Given the description of an element on the screen output the (x, y) to click on. 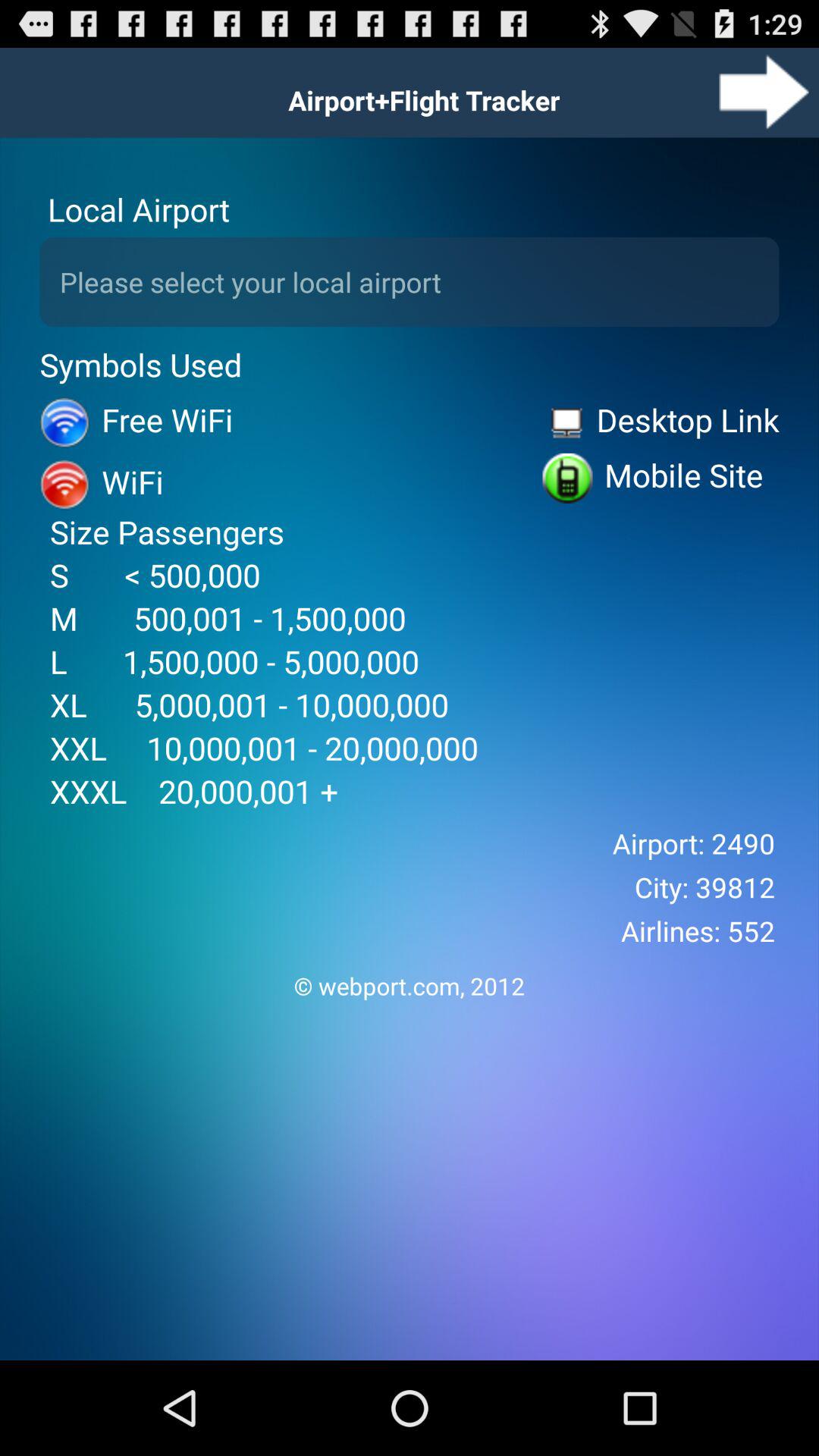
go to next page (763, 92)
